Given the description of an element on the screen output the (x, y) to click on. 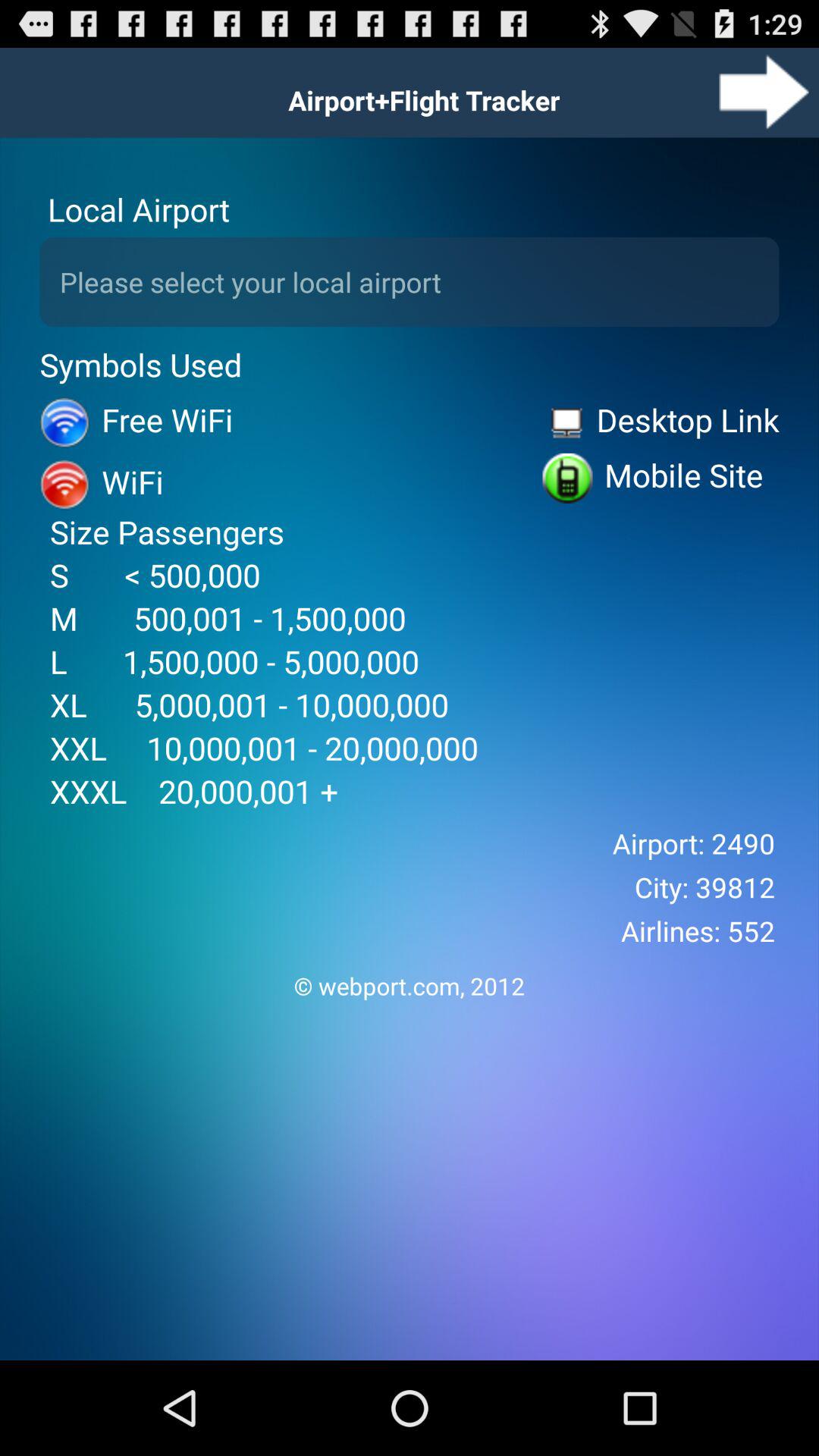
go to next page (763, 92)
